Given the description of an element on the screen output the (x, y) to click on. 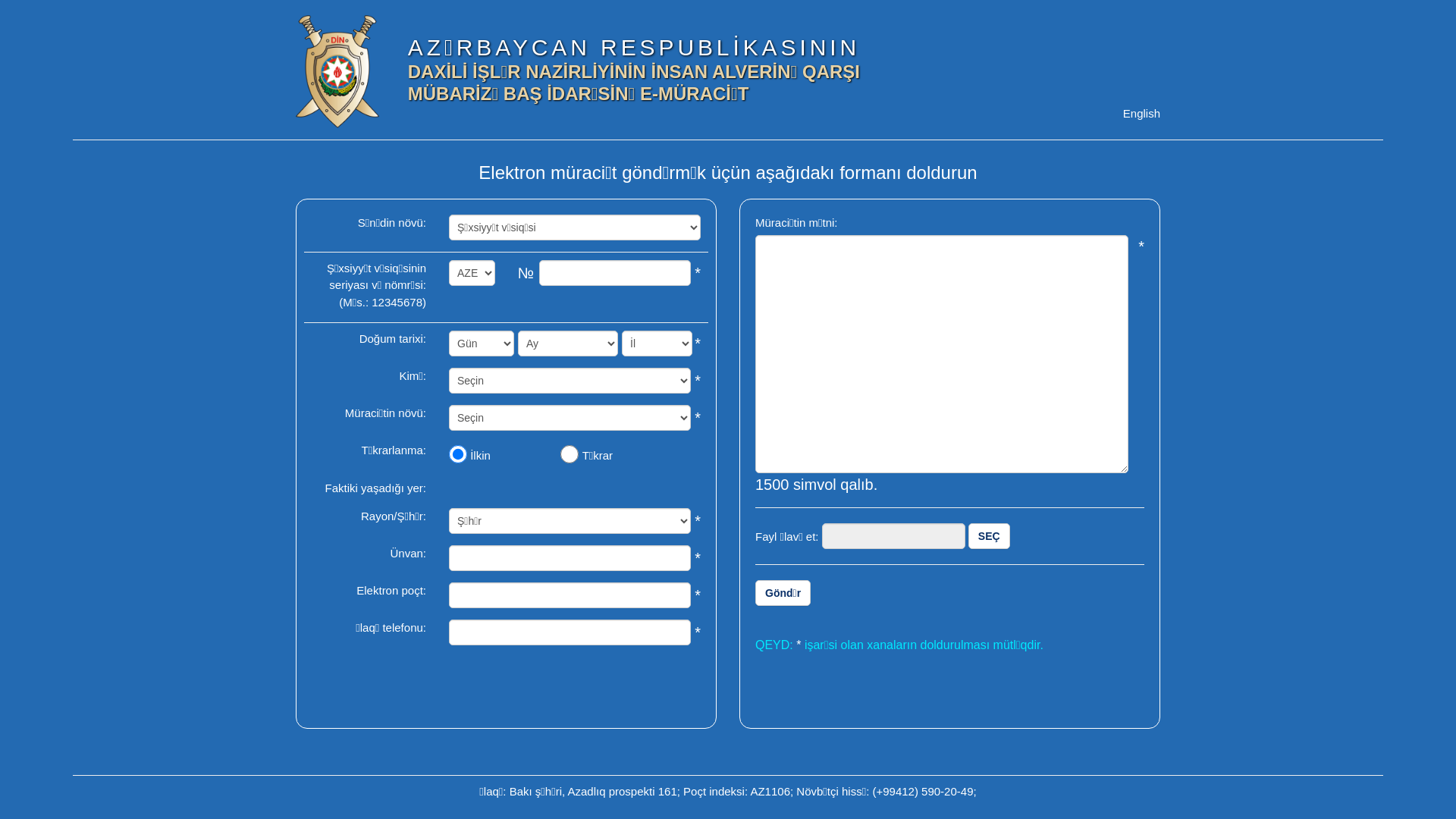
English Element type: text (1141, 113)
